Given the description of an element on the screen output the (x, y) to click on. 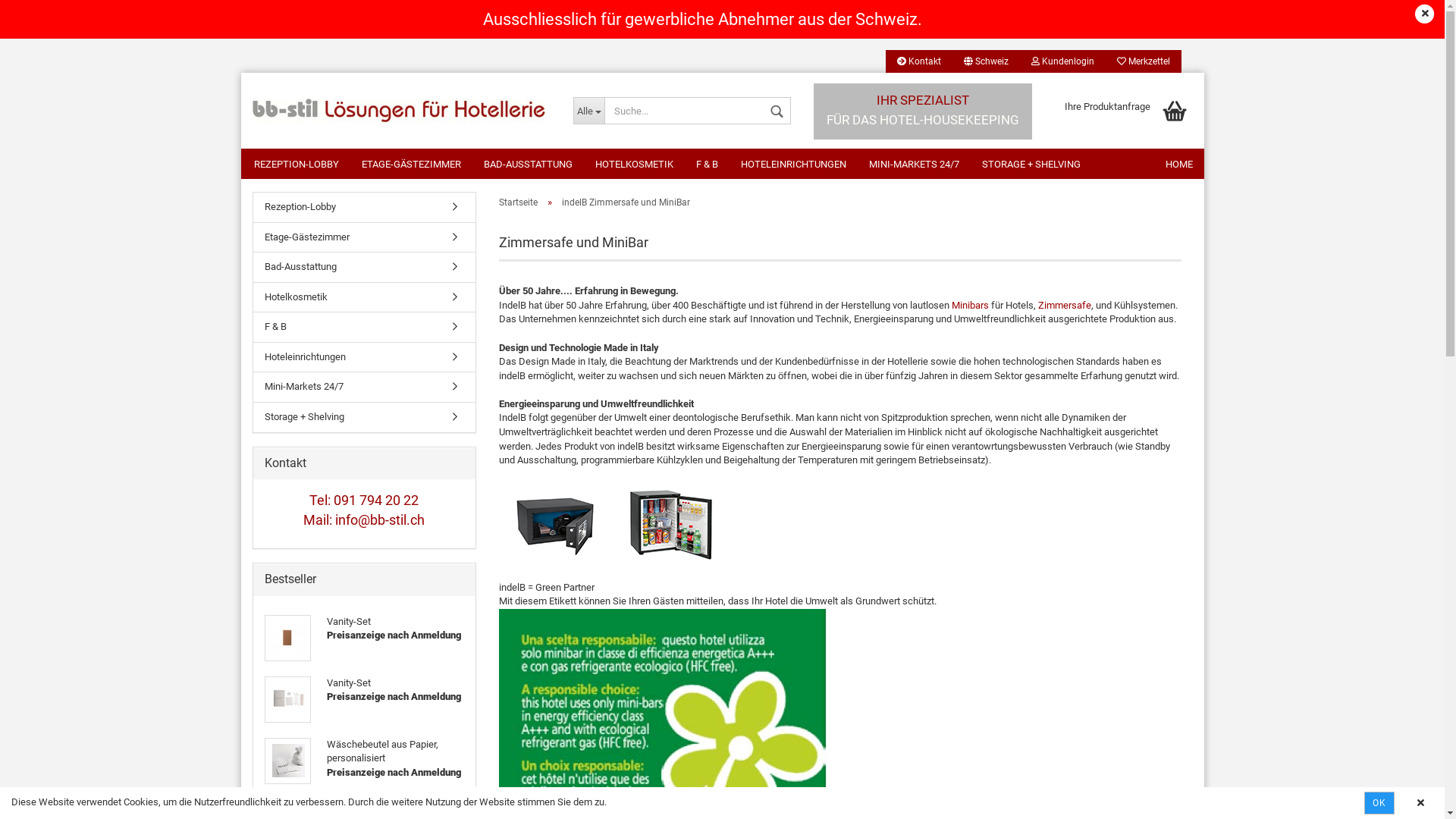
BAD-AUSSTATTUNG Element type: text (527, 163)
F & B Element type: text (706, 163)
 Kundenlogin Element type: text (1061, 61)
Bad-Ausstattung Element type: text (364, 267)
 Merkzettel Element type: text (1143, 61)
Minibars Element type: text (969, 304)
Hoteleinrichtungen Element type: text (364, 357)
Kontakt Element type: text (918, 61)
Anmelden Element type: text (979, 235)
Zimmersafe Element type: text (1063, 304)
STORAGE + SHELVING Element type: text (1031, 163)
indelB Zimmersafe und MiniBar Element type: text (625, 202)
Ihre Produktanfrage Element type: text (1123, 110)
Mini-Markets 24/7 Element type: text (364, 386)
MINI-MARKETS 24/7 Element type: text (912, 163)
Mail: info@bb-stil.ch Element type: text (363, 519)
F & B Element type: text (364, 327)
Rezeption-Lobby Element type: text (364, 207)
Tel: 091 794 20 22 Element type: text (363, 500)
HOME Element type: text (1179, 163)
REZEPTION-LOBBY Element type: text (296, 163)
Schweiz Element type: text (985, 61)
Vanity-Set
Preisanzeige nach Anmeldung Element type: text (364, 637)
Hotelkosmetik Element type: text (364, 297)
Vanity-Set
Preisanzeige nach Anmeldung Element type: text (364, 699)
Minibar Element type: hover (671, 523)
HOTELKOSMETIK Element type: text (633, 163)
Speichern Element type: text (902, 173)
OK Element type: text (1379, 802)
Zimmersafe Element type: hover (555, 524)
Startseite Element type: text (517, 202)
HOTELEINRICHTUNGEN Element type: text (793, 163)
Storage + Shelving Element type: text (364, 417)
Alle Element type: text (588, 110)
